Given the description of an element on the screen output the (x, y) to click on. 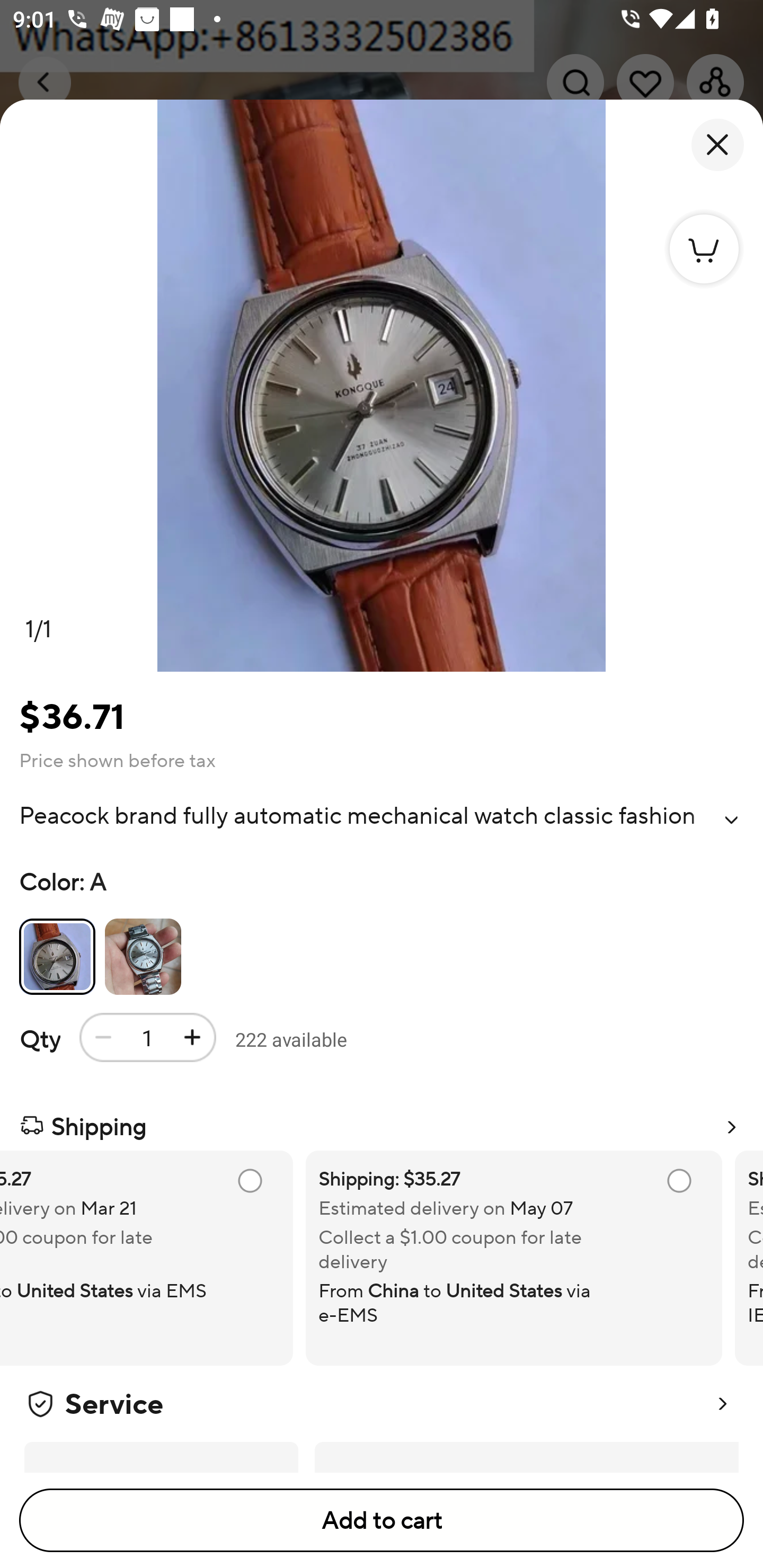
close  (717, 144)
 (730, 819)
Add to cart (381, 1520)
